Given the description of an element on the screen output the (x, y) to click on. 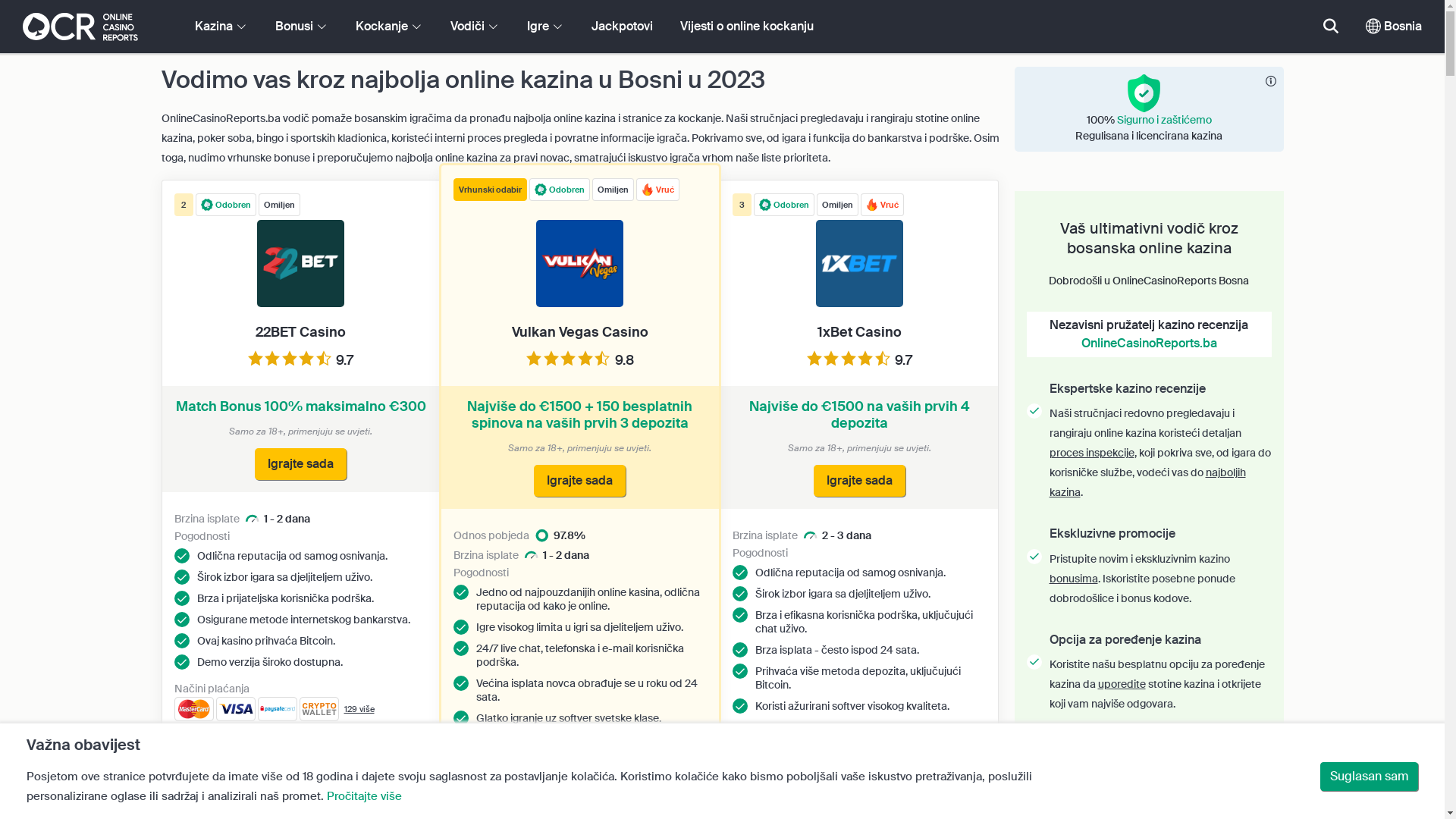
Recenzija Element type: text (888, 784)
Igrajte sada Element type: text (300, 464)
proces inspekcije Element type: text (1091, 452)
Kockanje Element type: text (389, 26)
Igrajte sada Element type: text (859, 480)
Bosnia Element type: text (1393, 26)
Jackpotovi Element type: text (621, 26)
uporedite Element type: text (1121, 683)
kazino igara Element type: text (1078, 790)
najboljih kazina Element type: text (1147, 481)
Suglasan sam Element type: text (1369, 776)
Kazina Element type: text (221, 26)
Igrajte sada Element type: text (579, 480)
Uporedite Element type: text (272, 740)
Igre Element type: text (545, 26)
Vijesti o online kockanju Element type: text (746, 26)
Uporedite Element type: text (831, 784)
bonusima Element type: text (1073, 578)
Recenzija Element type: text (329, 740)
Bonusi Element type: text (301, 26)
